Given the description of an element on the screen output the (x, y) to click on. 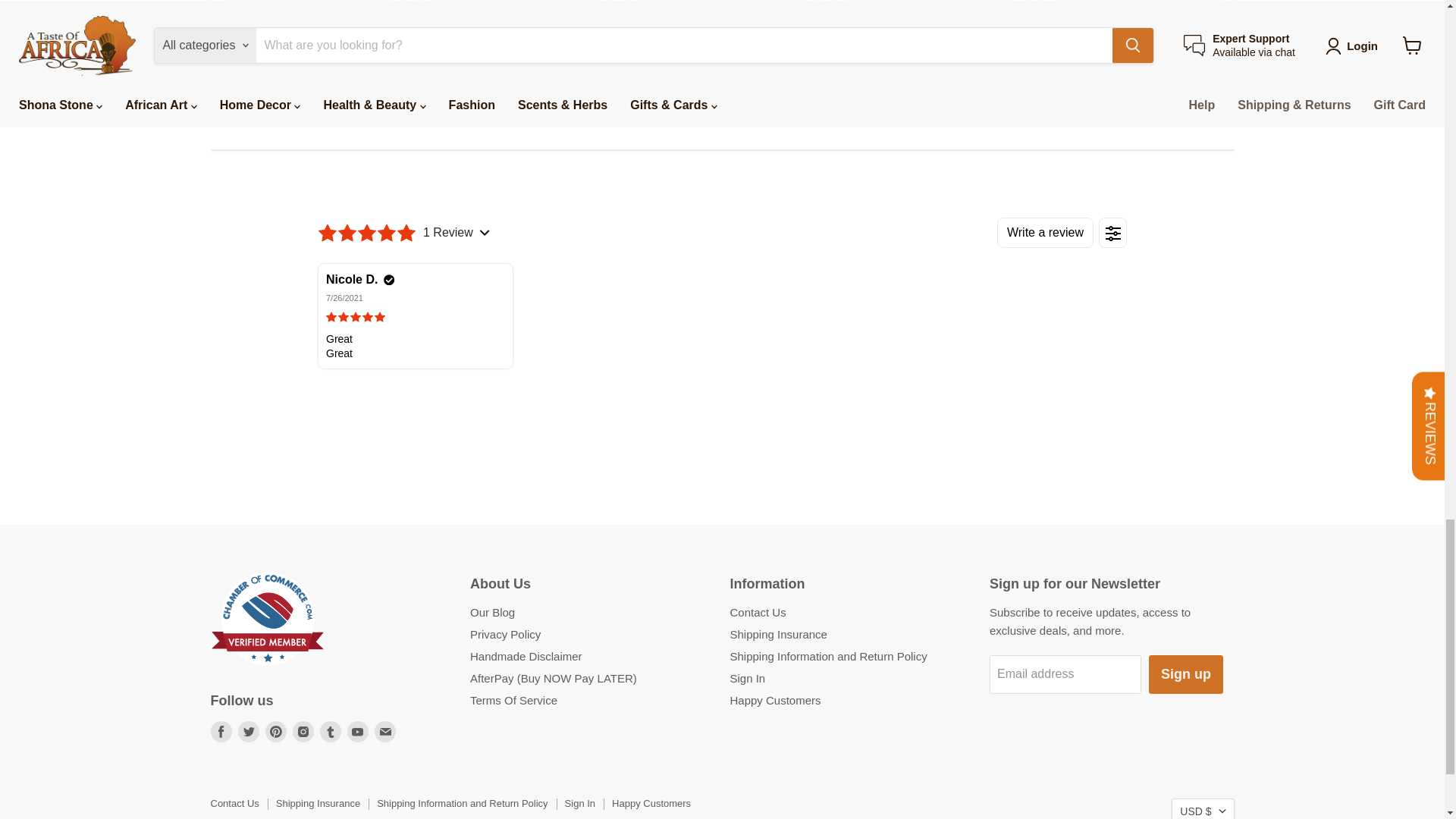
Facebook (221, 731)
Pinterest (275, 731)
Tumblr (330, 731)
Twitter (248, 731)
Email (385, 731)
Instagram (303, 731)
Youtube (357, 731)
